Given the description of an element on the screen output the (x, y) to click on. 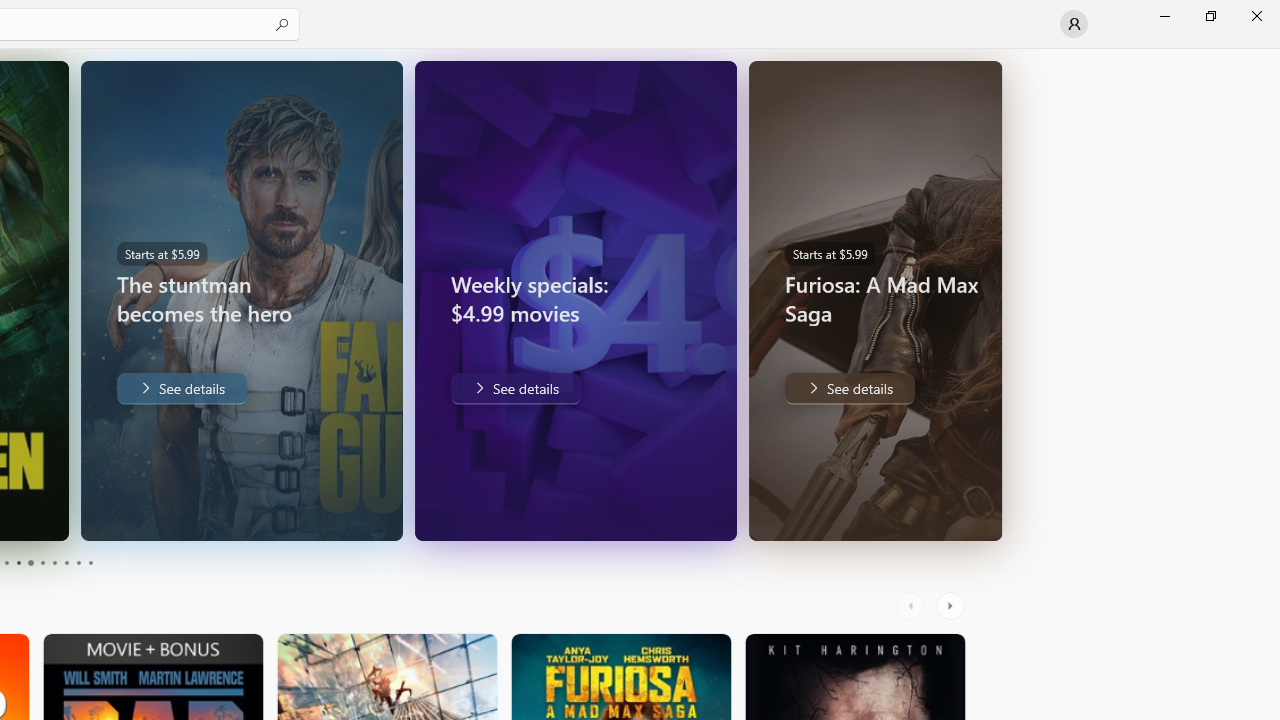
Page 7 (54, 562)
Page 3 (5, 562)
AutomationID: RightScrollButton (952, 606)
Page 5 (29, 562)
Page 4 (17, 562)
Page 8 (65, 562)
AutomationID: Image (989, 300)
Close Microsoft Store (1256, 15)
AutomationID: LeftScrollButton (913, 606)
Page 10 (90, 562)
Restore Microsoft Store (1210, 15)
Page 6 (41, 562)
